Given the description of an element on the screen output the (x, y) to click on. 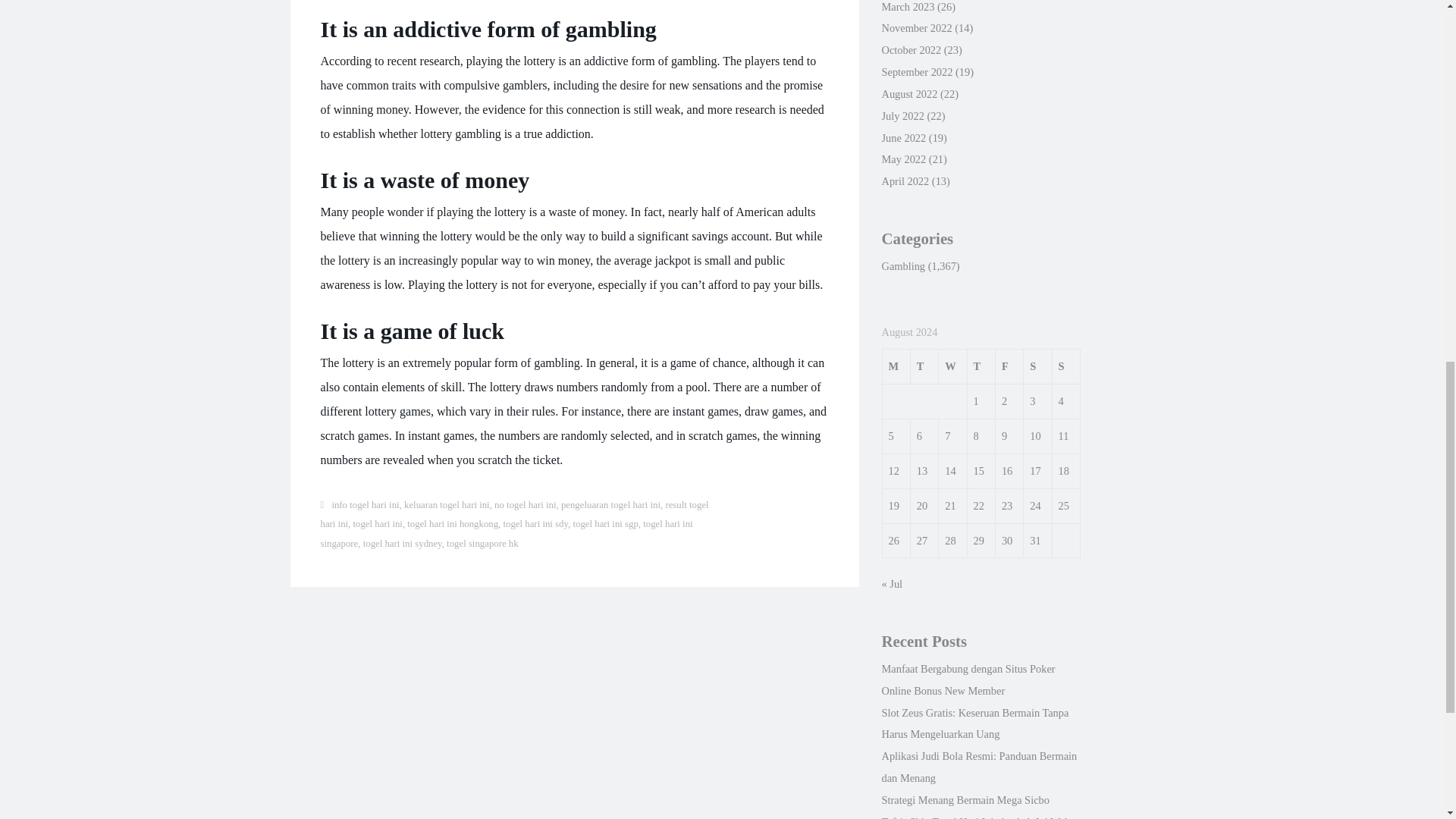
no togel hari ini (525, 504)
pengeluaran togel hari ini (610, 504)
info togel hari ini (364, 504)
keluaran togel hari ini (446, 504)
togel hari ini sydney (402, 543)
togel hari ini (378, 523)
togel hari ini sdy (536, 523)
togel hari ini hongkong (452, 523)
result togel hari ini (513, 514)
togel singapore hk (482, 543)
